Given the description of an element on the screen output the (x, y) to click on. 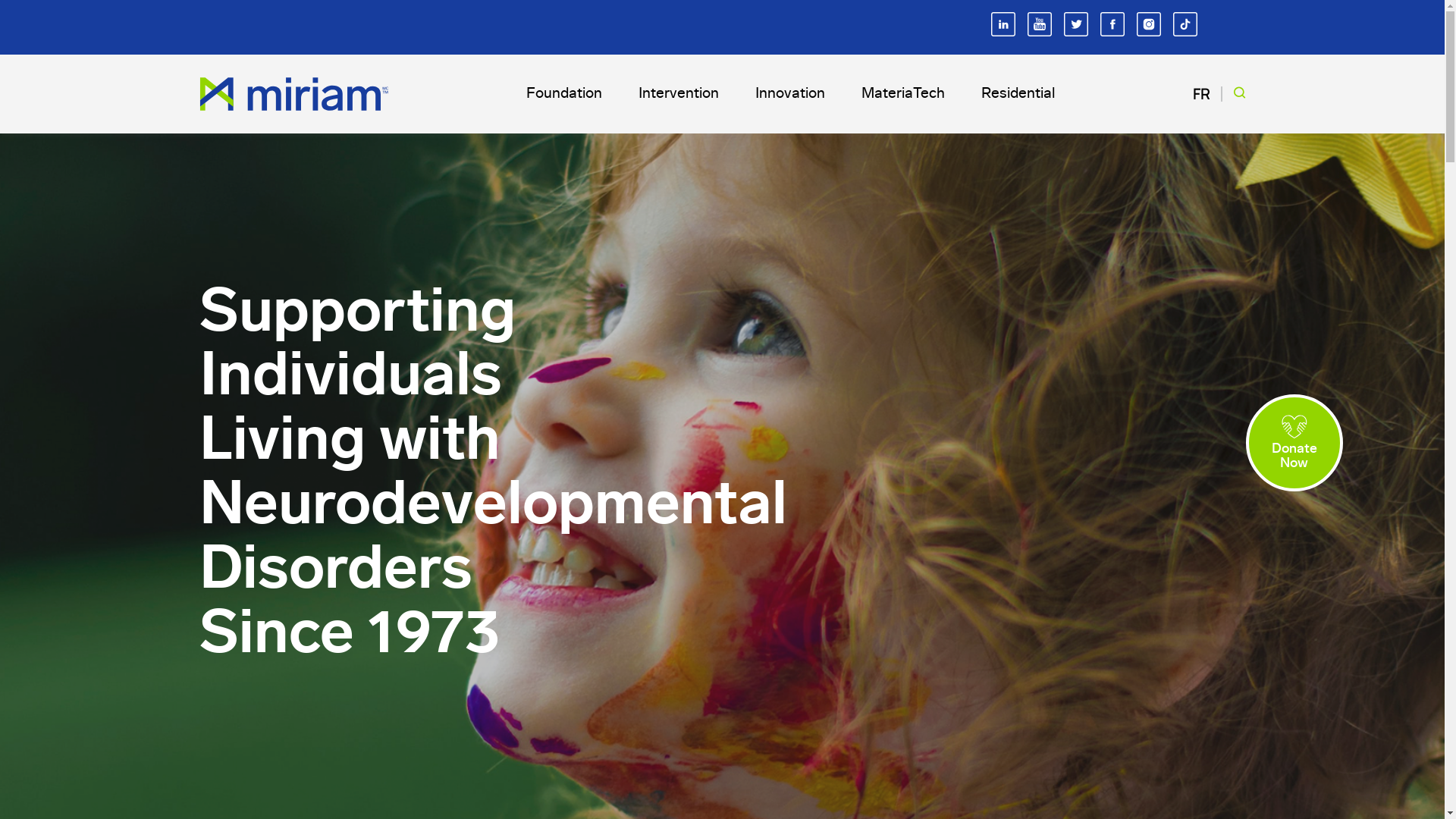
Innovation Element type: text (790, 93)
FR Element type: text (1201, 93)
Home Element type: hover (293, 93)
Donate Now Element type: text (1294, 442)
Foundation Element type: text (564, 93)
Residential Element type: text (1018, 93)
Intervention Element type: text (678, 93)
MateriaTech Element type: text (903, 93)
